Given the description of an element on the screen output the (x, y) to click on. 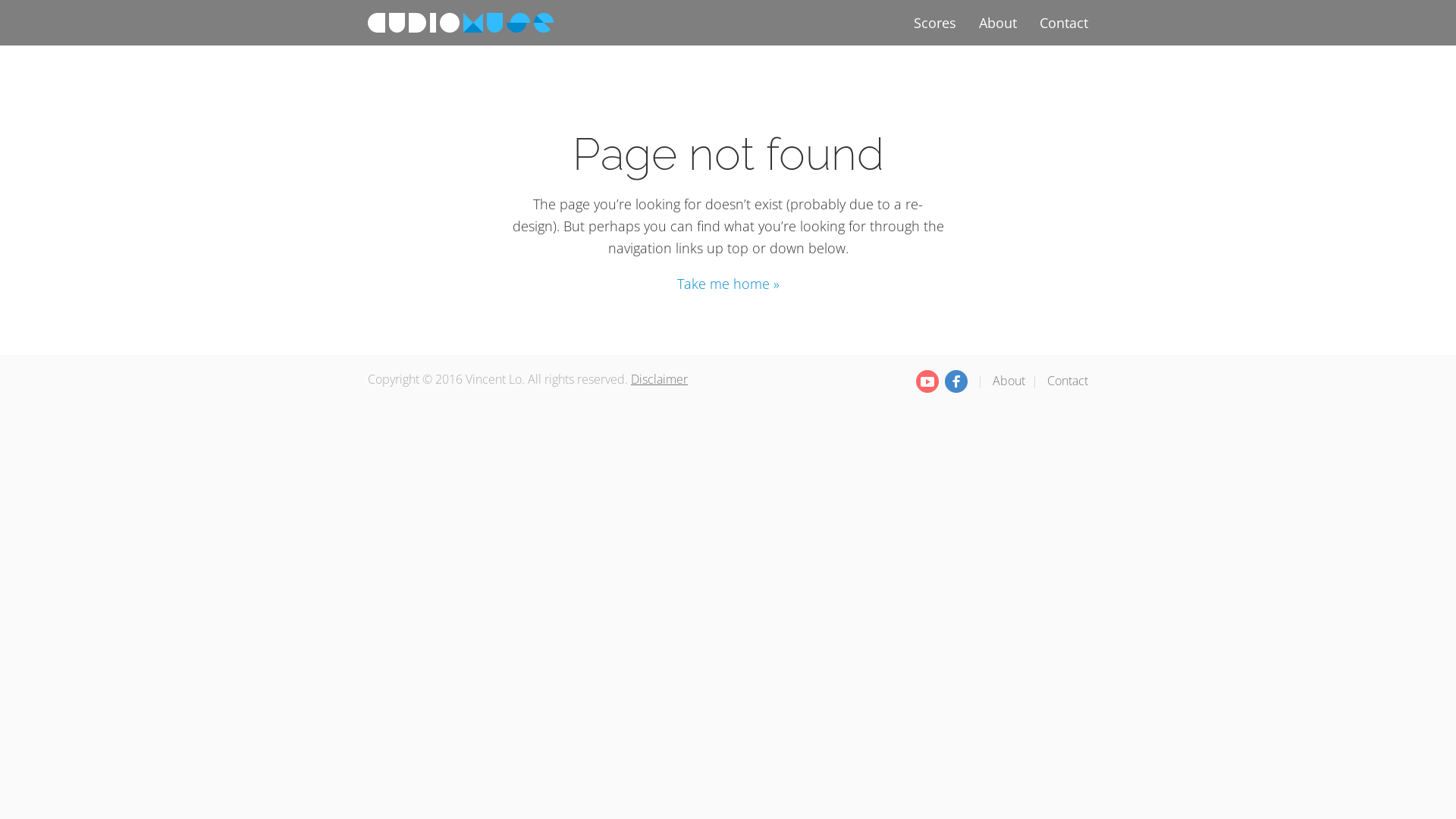
Scores Element type: text (934, 22)
Contact Element type: text (1067, 381)
Audiomuse Element type: text (460, 22)
Disclaimer Element type: text (658, 378)
About Element type: text (1008, 381)
About Element type: text (997, 22)
Contact Element type: text (1063, 22)
